Given the description of an element on the screen output the (x, y) to click on. 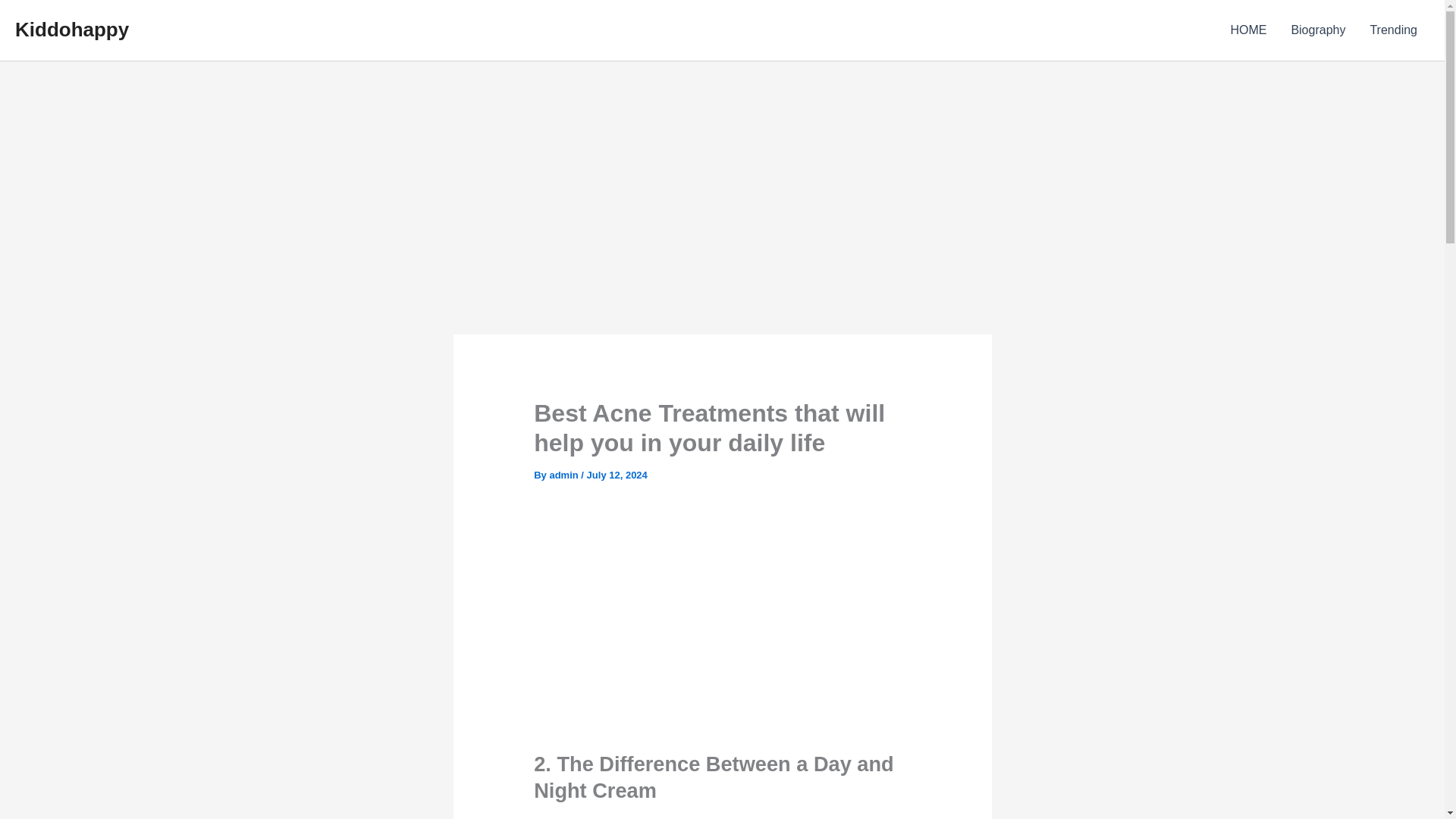
View all posts by admin (564, 474)
HOME (1247, 30)
Trending (1392, 30)
admin (564, 474)
Advertisement (721, 222)
Biography (1317, 30)
Advertisement (772, 612)
Kiddohappy (71, 29)
